Given the description of an element on the screen output the (x, y) to click on. 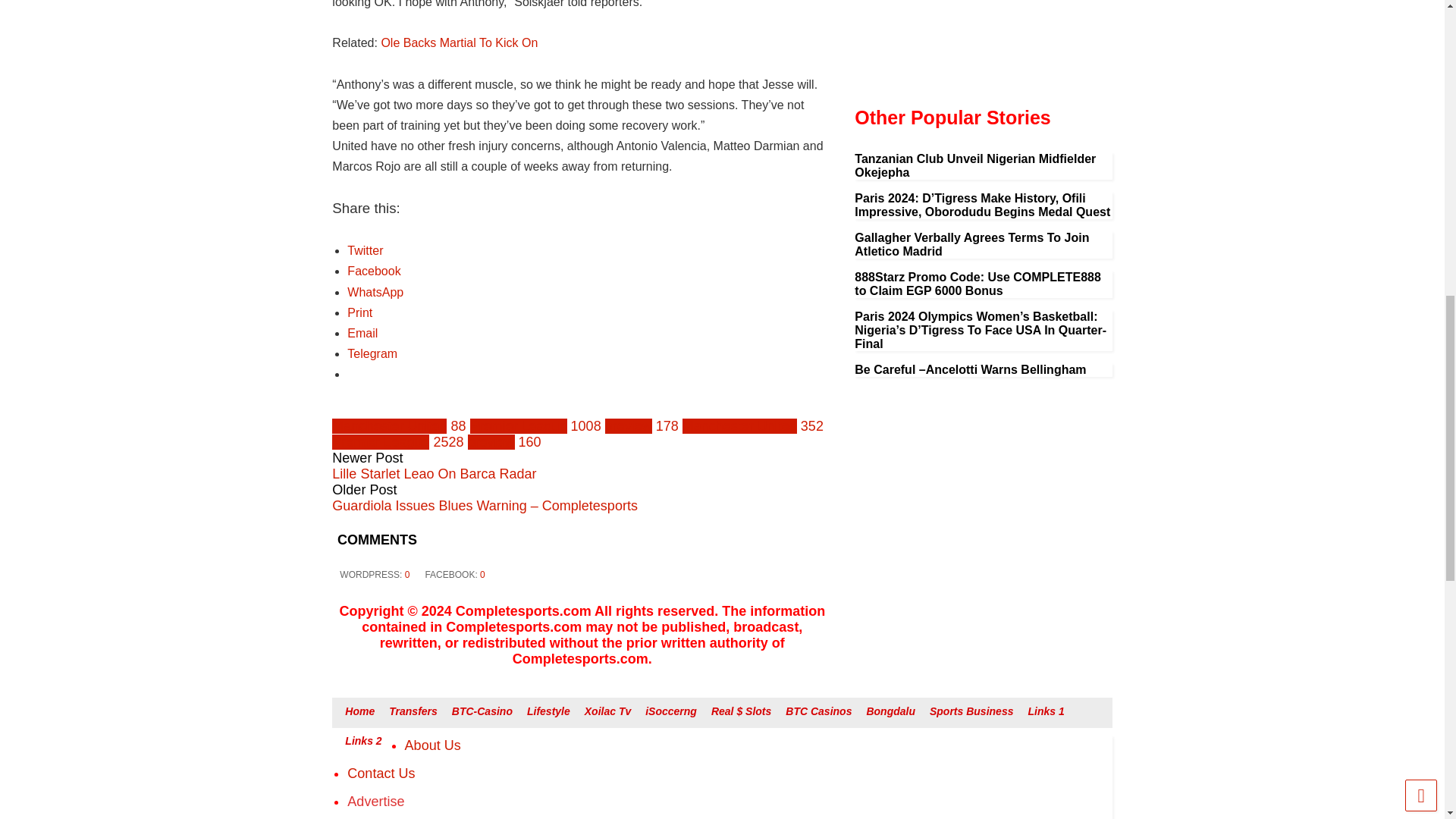
Click to share on Facebook (373, 270)
Click to share on Telegram (372, 353)
Click to share on Twitter (364, 250)
Click to share on WhatsApp (375, 291)
Click to print (359, 312)
Click to email a link to a friend (362, 332)
